Given the description of an element on the screen output the (x, y) to click on. 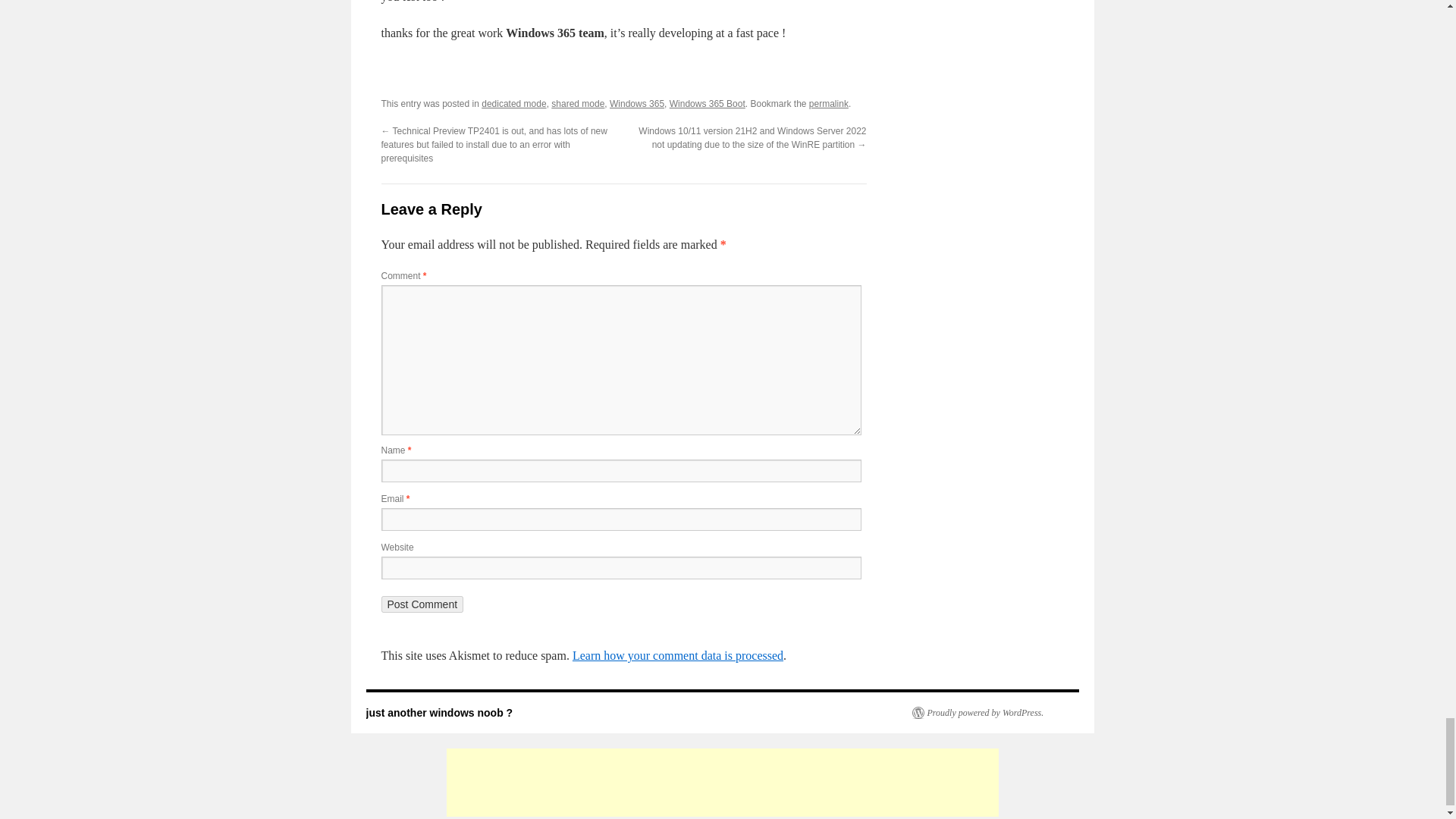
just another windows noob ? (438, 712)
Semantic Personal Publishing Platform (977, 712)
Post Comment (421, 604)
Permalink to A quick look at Windows 365 Boot shared mode (828, 103)
